Given the description of an element on the screen output the (x, y) to click on. 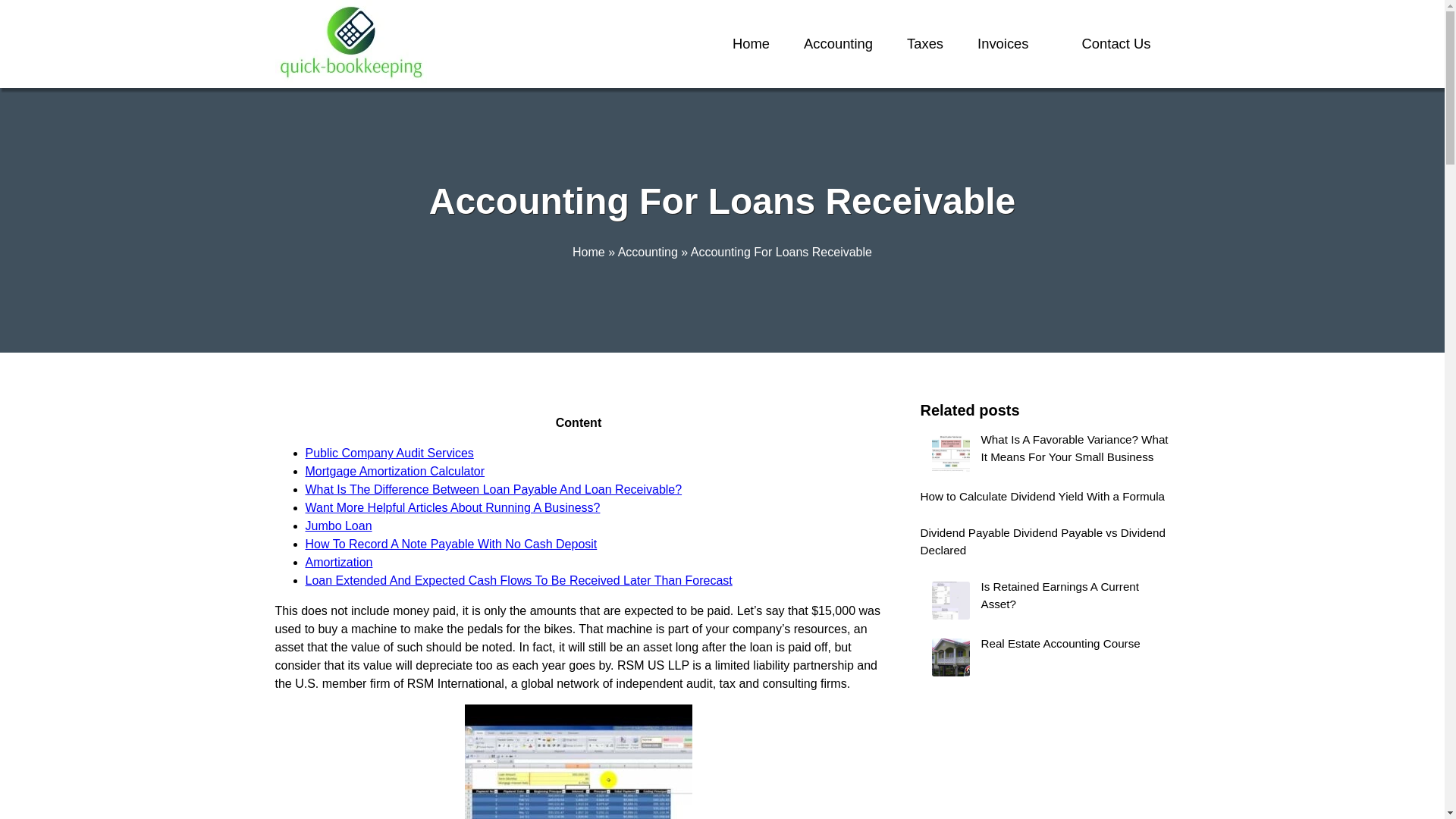
Mortgage Amortization Calculator (394, 471)
Dividend Payable Dividend Payable vs Dividend Declared (1045, 544)
How to Calculate Dividend Yield With a Formula (1045, 499)
Invoices (1001, 43)
Real Estate Accounting Course (1045, 657)
How To Record A Note Payable With No Cash Deposit (450, 543)
Home (588, 251)
Accounting (647, 251)
Accounting (837, 43)
Jumbo Loan (337, 525)
Taxes (925, 43)
Contact Us (1116, 43)
